Given the description of an element on the screen output the (x, y) to click on. 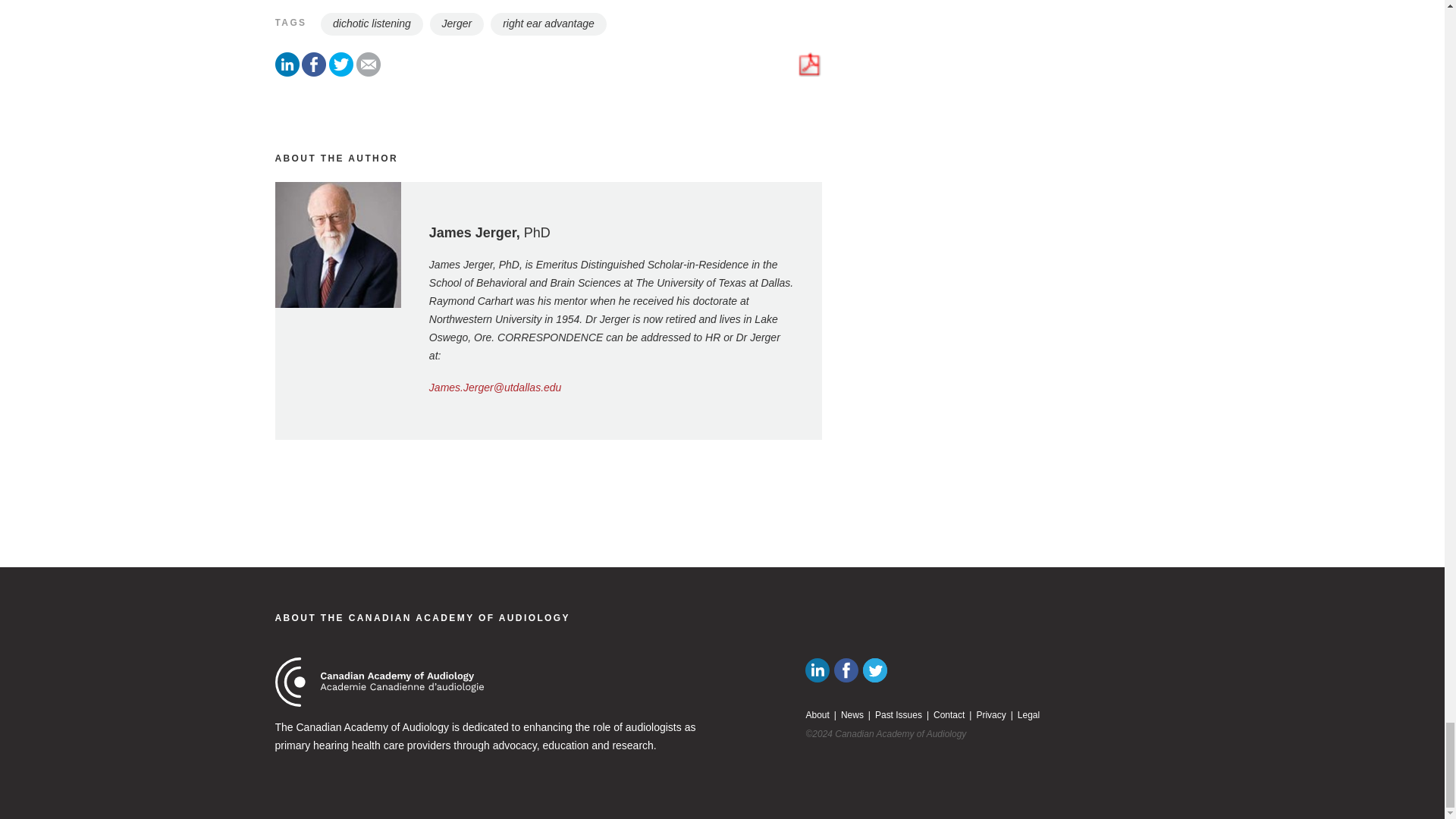
The Canadian Academy of Audiology (422, 617)
Canadian Audiologists on LinkedIn (817, 670)
Share on LinkedIn (286, 72)
The Canadian Academy of Audiology (379, 681)
Tweet (341, 72)
Share on Facebook (313, 72)
Like Canadian Audiologists on Facebook (846, 670)
Send email (368, 72)
Follow Canadian Audiologists on Twitter (874, 670)
